Given the description of an element on the screen output the (x, y) to click on. 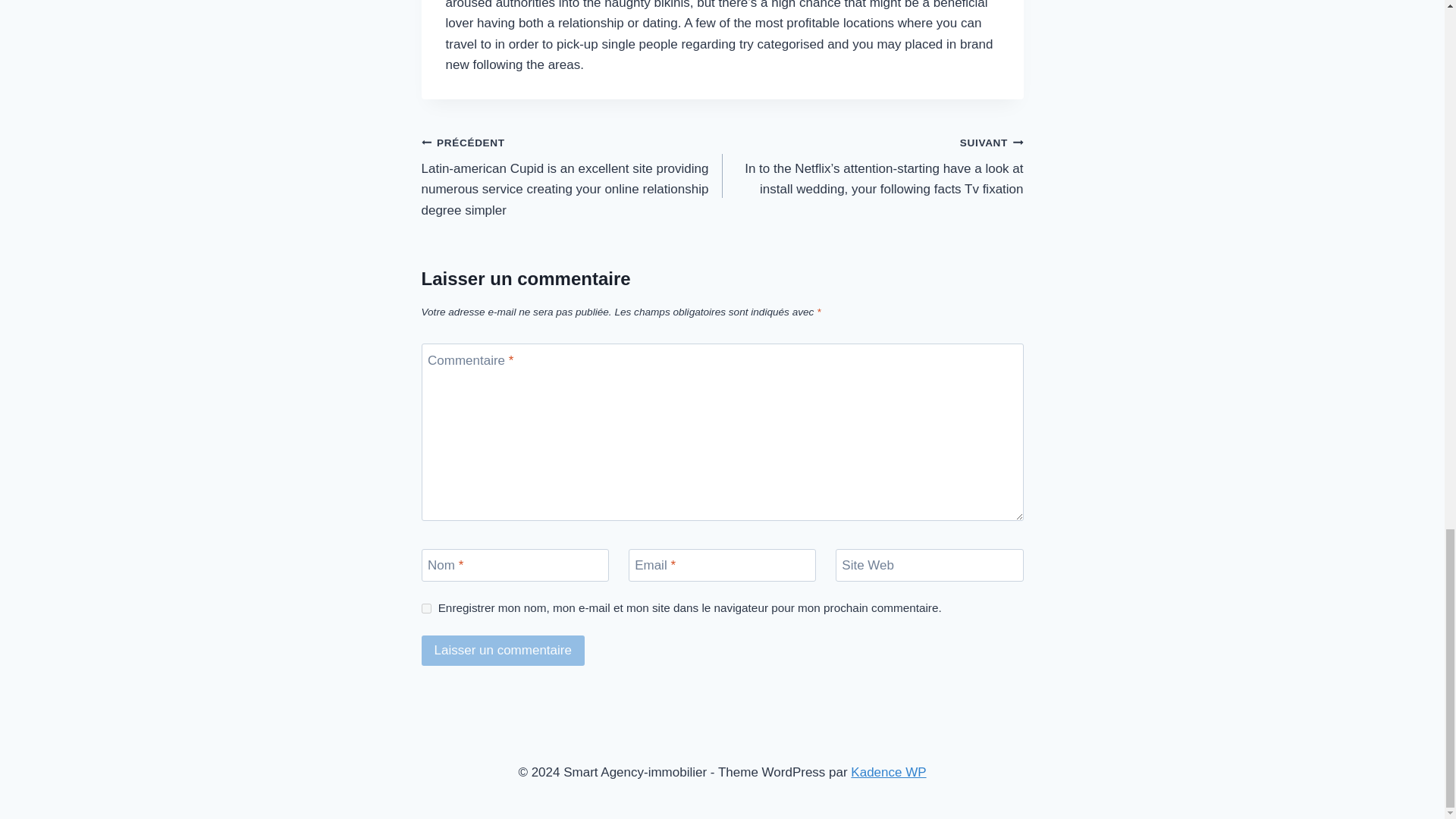
Laisser un commentaire (503, 650)
Laisser un commentaire (503, 650)
yes (426, 608)
Kadence WP (888, 771)
